Given the description of an element on the screen output the (x, y) to click on. 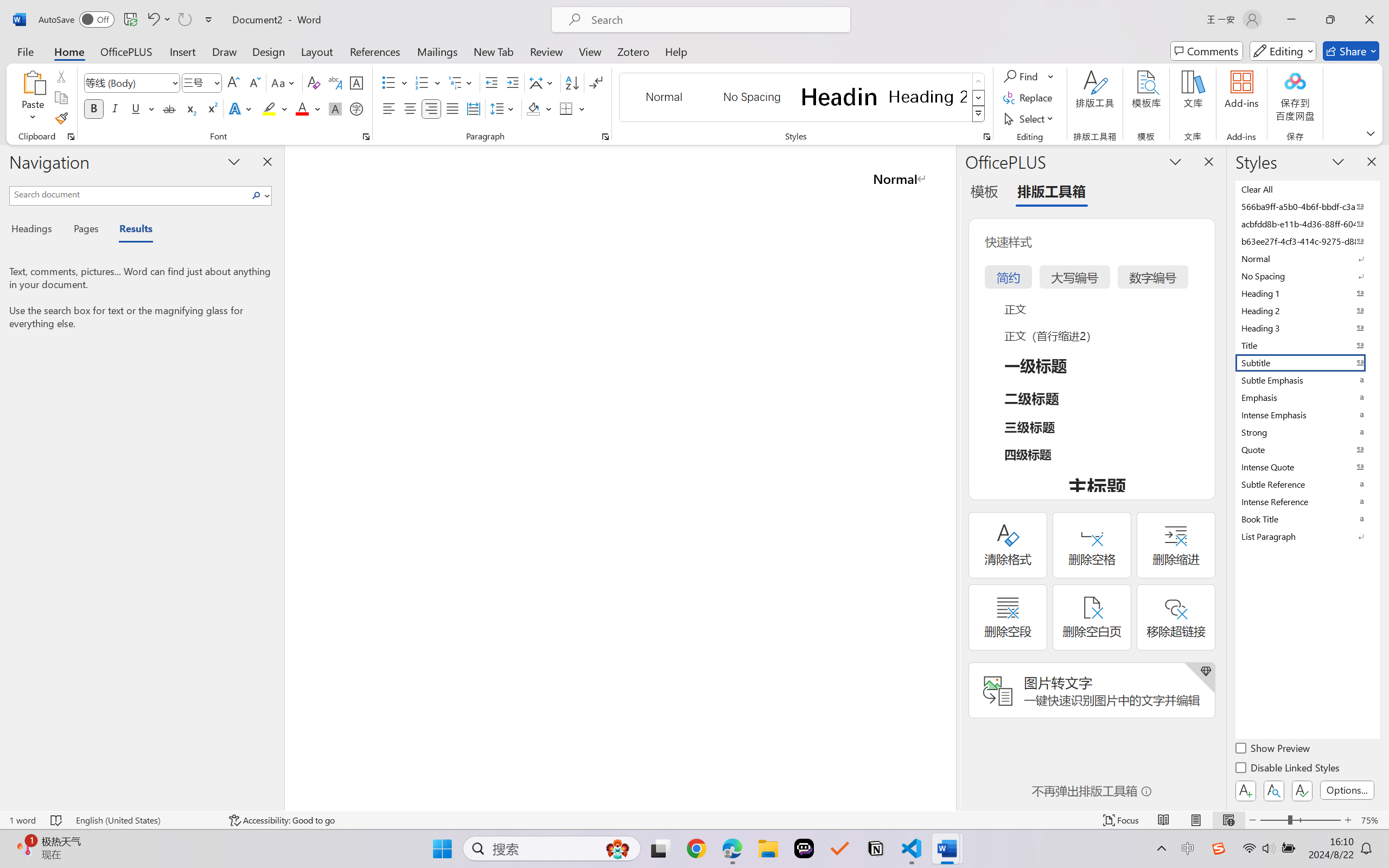
List Paragraph (1306, 536)
Undo Paragraph Alignment (158, 19)
Class: NetUIScrollBar (948, 477)
Justify (452, 108)
Text Highlight Color Yellow (269, 108)
Minimize (1291, 19)
Intense Quote (1306, 466)
Home (69, 51)
Search (256, 195)
Asian Layout (542, 82)
Design (268, 51)
Mailings (437, 51)
